Given the description of an element on the screen output the (x, y) to click on. 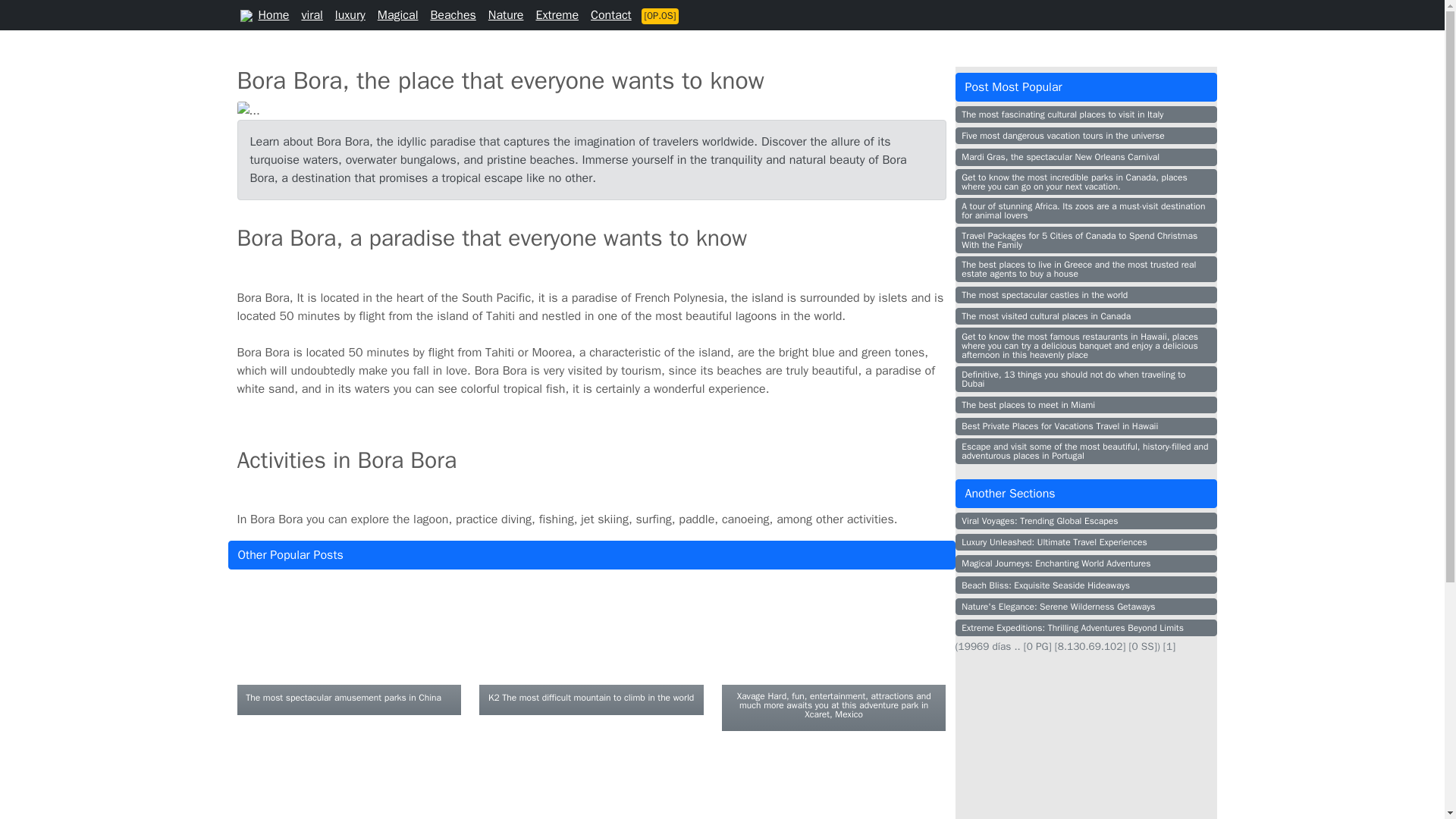
The most spectacular amusement parks in China (343, 696)
Nature (505, 14)
luxury (350, 14)
Extreme (557, 14)
Magical (398, 14)
viral (312, 14)
Home (273, 14)
K2 The most difficult mountain to climb in the world (590, 696)
Contact (611, 14)
